Given the description of an element on the screen output the (x, y) to click on. 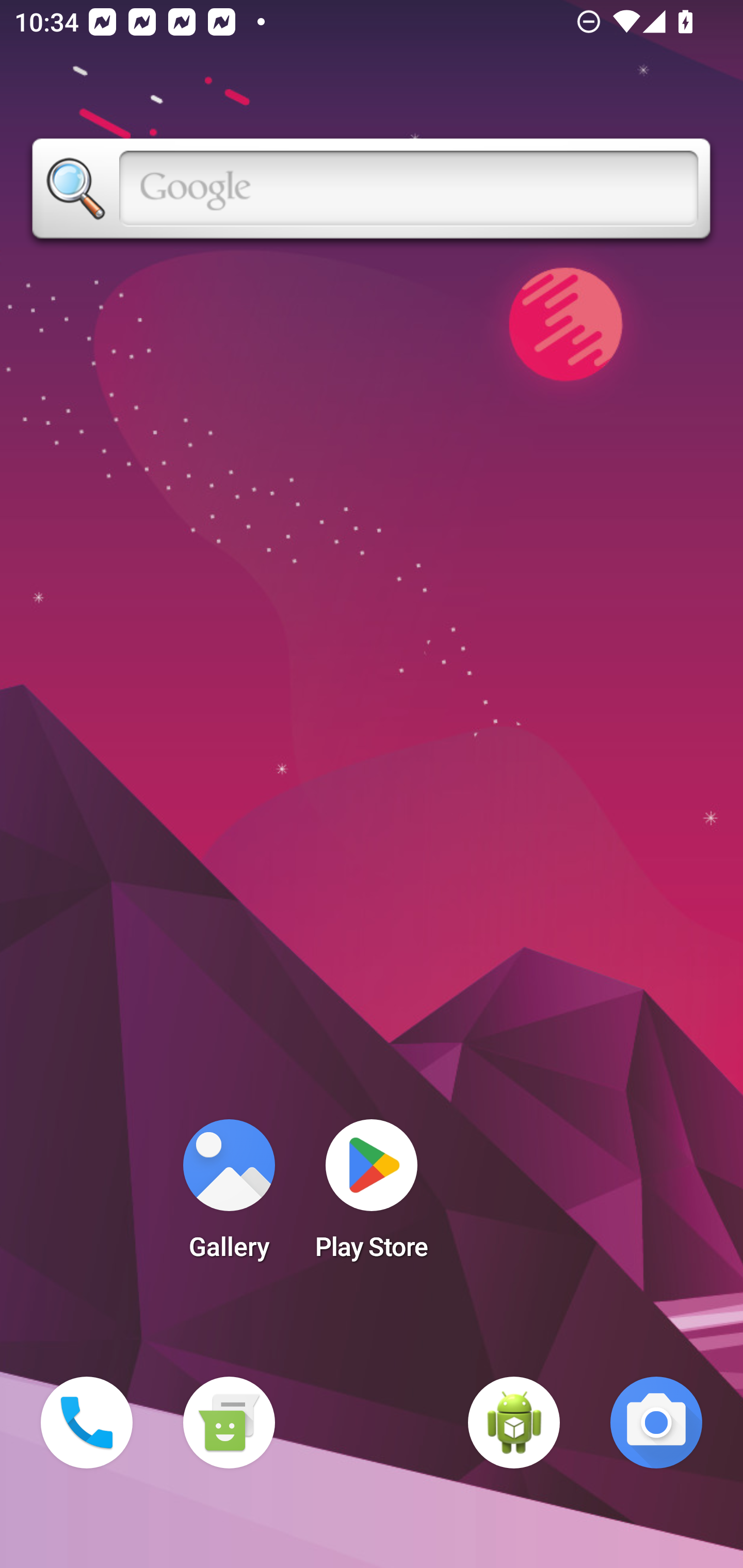
Gallery (228, 1195)
Play Store (371, 1195)
Phone (86, 1422)
Messaging (228, 1422)
WebView Browser Tester (513, 1422)
Camera (656, 1422)
